Given the description of an element on the screen output the (x, y) to click on. 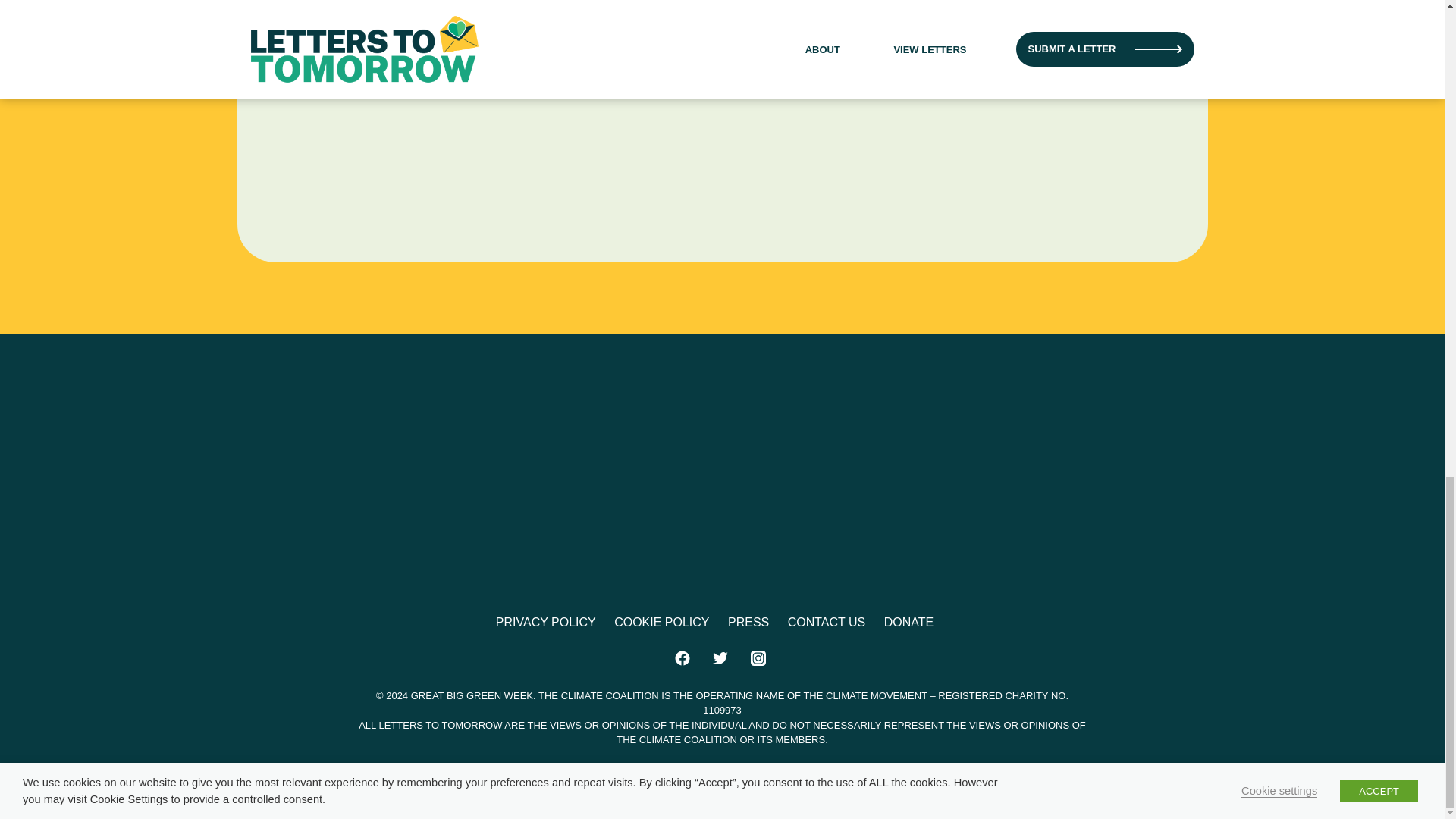
CONTACT US (826, 621)
DONATE (908, 621)
PRESS (748, 621)
PRIVACY POLICY (545, 621)
COOKIE POLICY (661, 621)
